Given the description of an element on the screen output the (x, y) to click on. 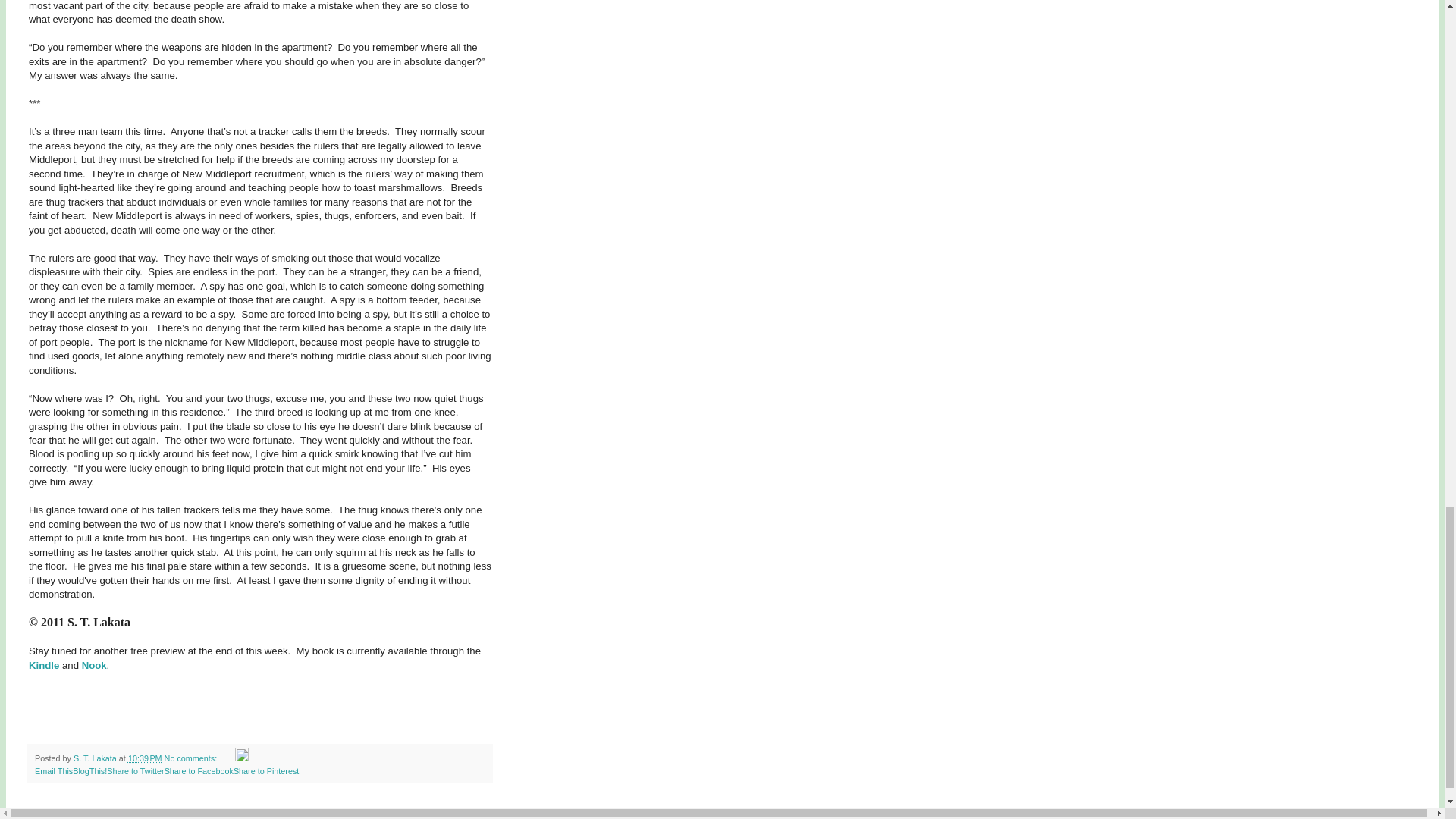
No comments: (191, 757)
Share to Pinterest (265, 770)
Nook (93, 665)
BlogThis! (89, 770)
Kindle (44, 665)
Edit Post (241, 757)
Email This (53, 770)
author profile (96, 757)
Share to Facebook (198, 770)
Share to Facebook (198, 770)
Email Post (226, 757)
S. T. Lakata (96, 757)
Share to Pinterest (265, 770)
Email This (53, 770)
Share to Twitter (134, 770)
